Given the description of an element on the screen output the (x, y) to click on. 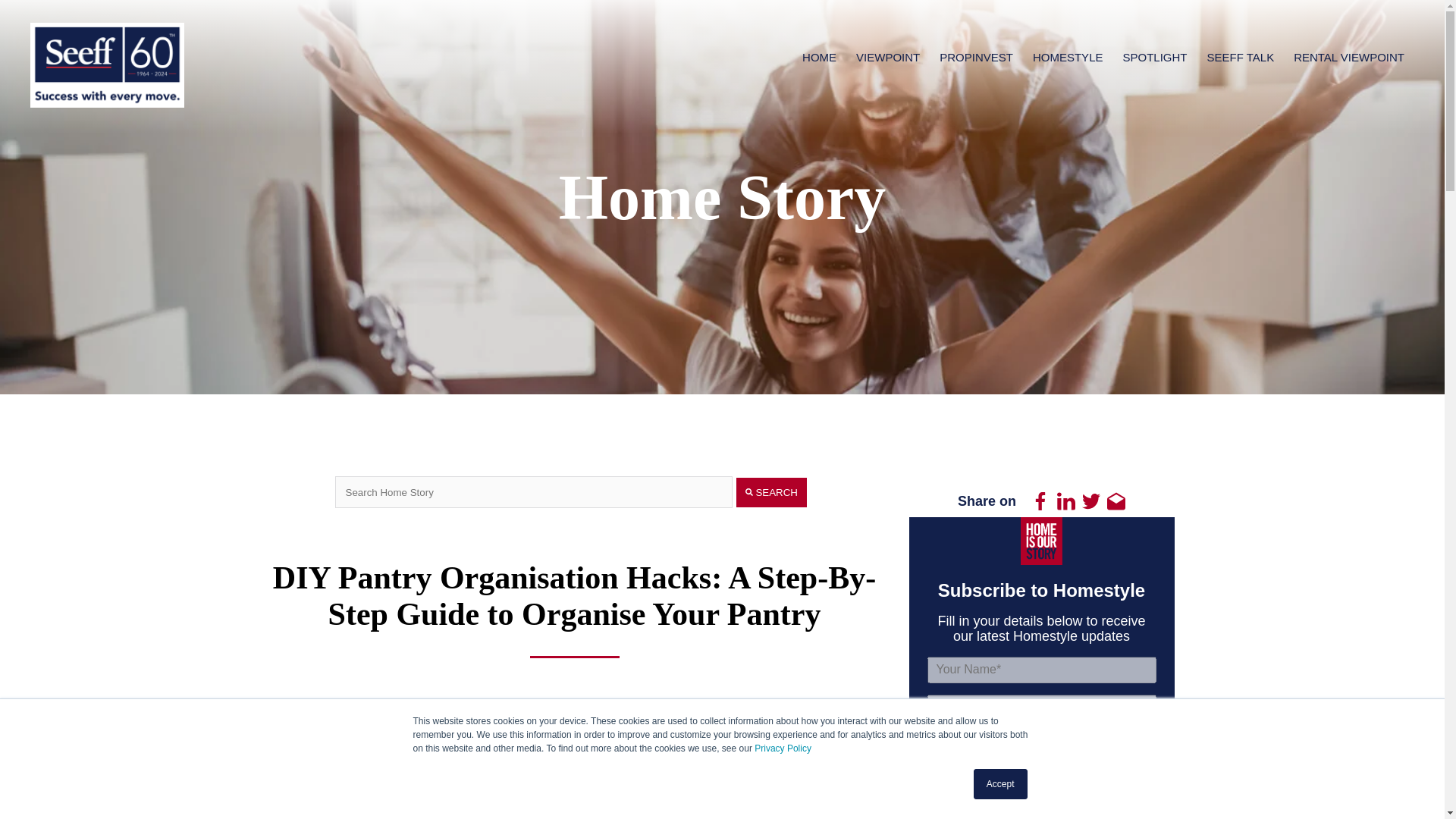
HOMESTYLE (1067, 56)
SEEFF TALK (1241, 56)
Accept (1000, 784)
monthly (1049, 800)
Privacy Policy (782, 747)
weekly (935, 800)
SPOTLIGHT (1154, 56)
HOME (818, 56)
PROPINVEST (976, 56)
RENTAL VIEWPOINT (1349, 56)
SEARCH (771, 491)
VIEWPOINT (888, 56)
